Given the description of an element on the screen output the (x, y) to click on. 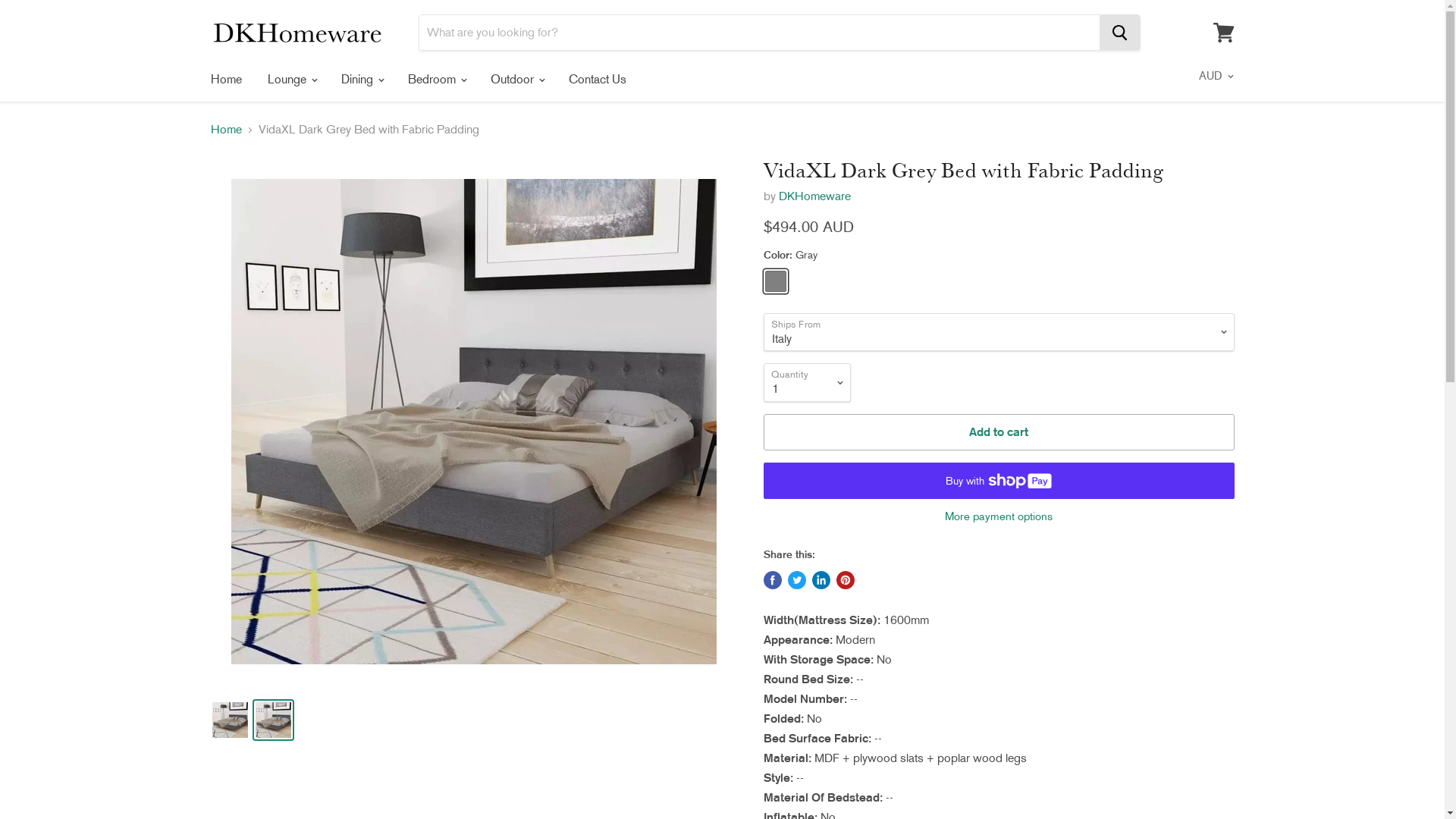
Home Element type: text (225, 129)
Home Element type: text (225, 79)
Dining Element type: text (360, 79)
DKHomeware Element type: text (814, 195)
Add to cart Element type: text (997, 432)
Outdoor Element type: text (516, 79)
More payment options Element type: text (997, 516)
Tweet on Twitter Element type: text (796, 580)
Share on LinkedIn Element type: text (820, 580)
Contact Us Element type: text (596, 79)
View cart Element type: text (1223, 32)
Bedroom Element type: text (435, 79)
Lounge Element type: text (291, 79)
Share on Facebook Element type: text (771, 580)
Pin on Pinterest Element type: text (844, 580)
